Given the description of an element on the screen output the (x, y) to click on. 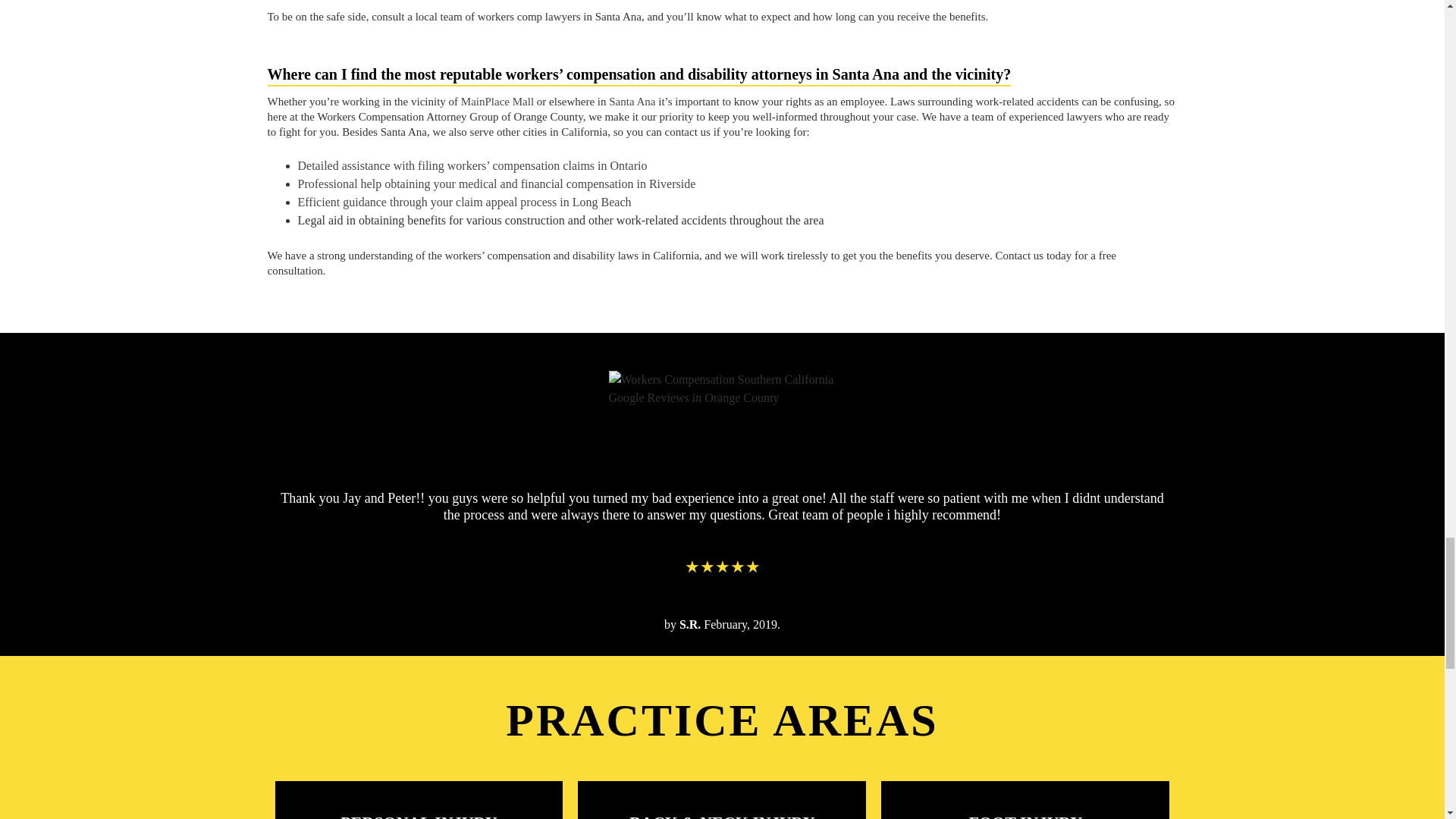
transparent (736, 552)
Personal Injury Attorney (418, 796)
